Given the description of an element on the screen output the (x, y) to click on. 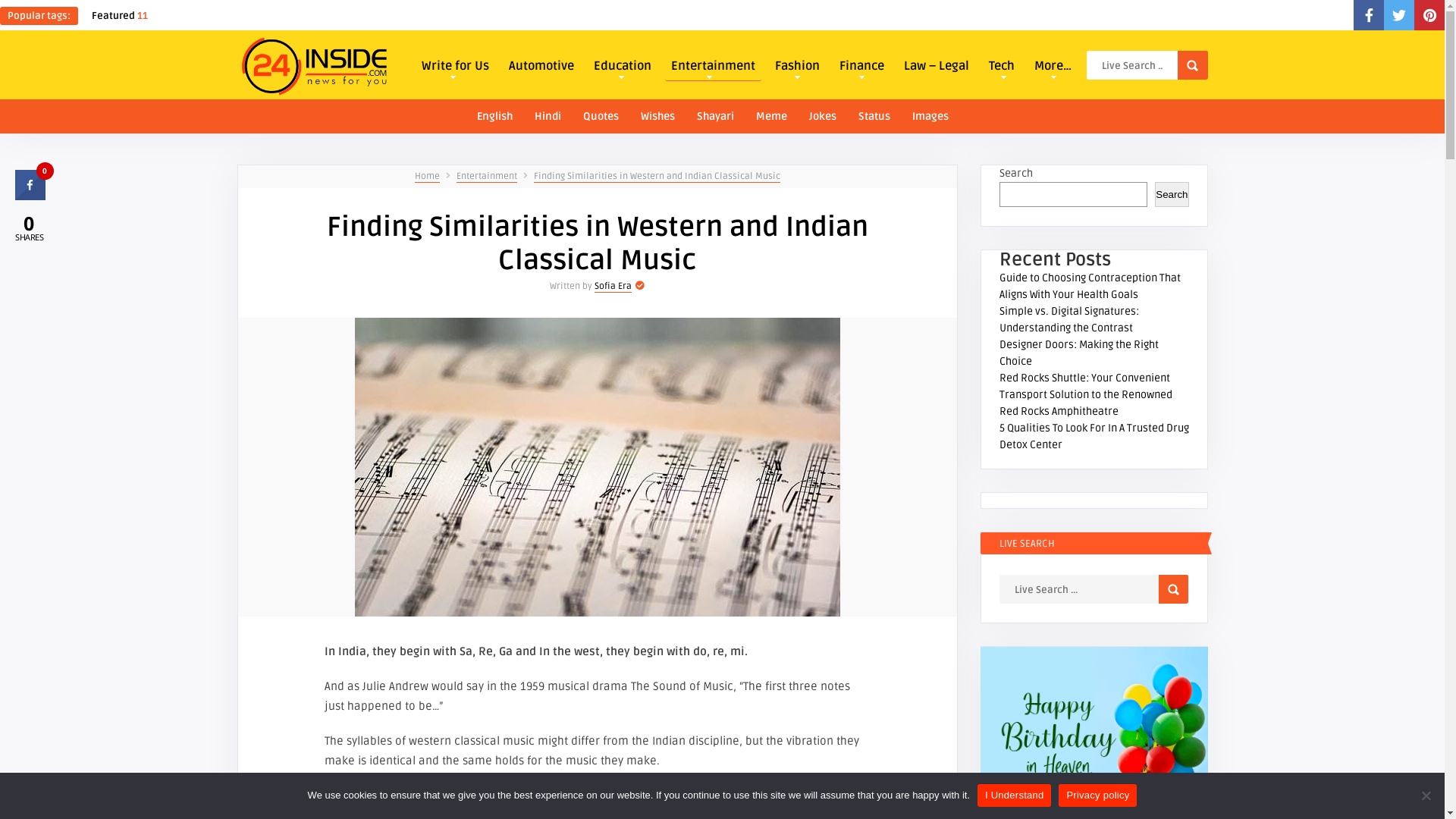
Education Element type: text (622, 64)
5 Qualities To Look For In A Trusted Drug Detox Center Element type: text (1094, 436)
Meme Element type: text (771, 115)
Status Element type: text (874, 115)
Hindi Element type: text (547, 115)
Home Element type: text (426, 176)
Write for Us Element type: text (455, 64)
Images Element type: text (930, 115)
Shayari Element type: text (715, 115)
English Element type: text (494, 115)
Simple vs. Digital Signatures: Understanding the Contrast Element type: text (1069, 319)
Tech Element type: text (1001, 64)
Automotive Element type: text (541, 64)
I Understand Element type: text (1014, 795)
Fashion Element type: text (796, 64)
Search Element type: text (1171, 194)
Designer Doors: Making the Right Choice Element type: text (1078, 352)
Entertainment Element type: text (713, 64)
No Element type: hover (1425, 795)
Wishes Element type: text (657, 115)
Finding Similarities in Western and Indian Classical Music Element type: text (656, 176)
Featured 11 Element type: text (119, 15)
Privacy policy Element type: text (1097, 795)
Search Element type: text (1173, 588)
Search Element type: text (1191, 64)
Jokes Element type: text (822, 115)
Entertainment Element type: text (486, 176)
Finance Element type: text (861, 64)
Sofia Era Element type: text (612, 286)
Share on Facebook Element type: hover (30, 195)
Quotes Element type: text (600, 115)
